Given the description of an element on the screen output the (x, y) to click on. 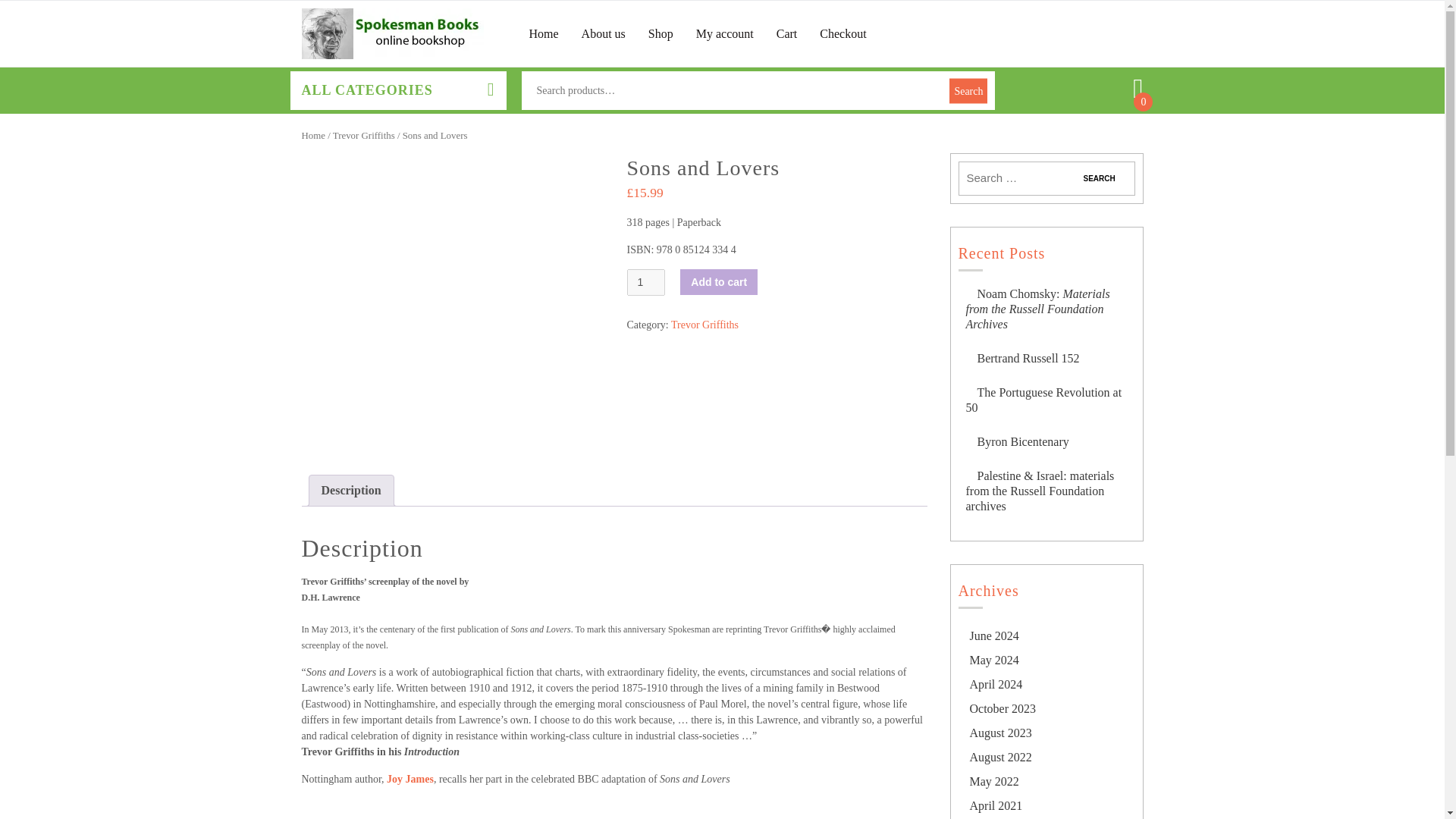
Checkout (842, 33)
My account (724, 33)
1 (645, 282)
images (451, 303)
About us (603, 33)
Search (1099, 178)
Cart (786, 33)
Search (1099, 178)
Home (544, 33)
Shop (659, 33)
